Given the description of an element on the screen output the (x, y) to click on. 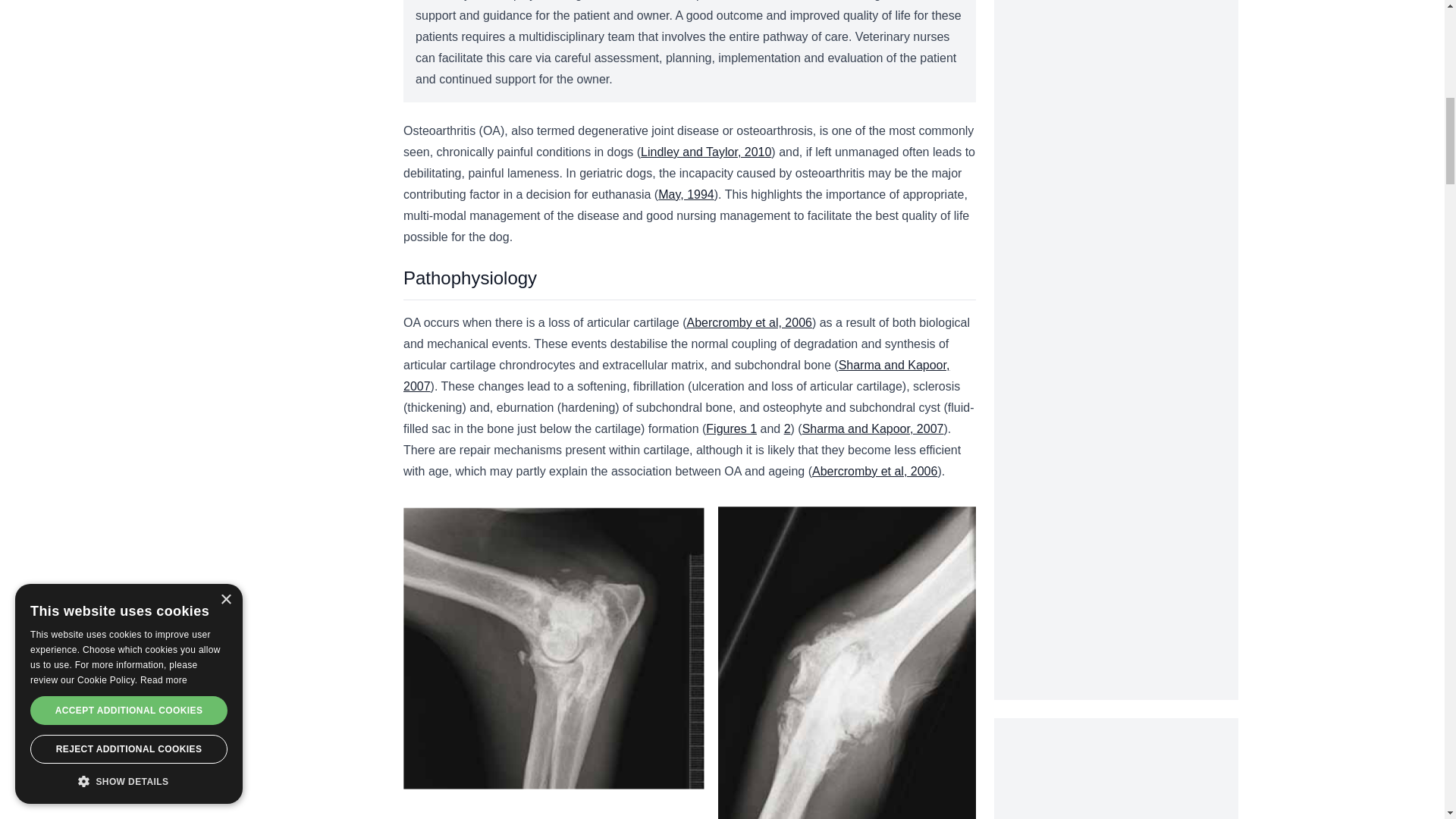
Abercromby et al, 2006 (749, 322)
Figures 1 (731, 428)
Sharma and Kapoor, 2007 (676, 375)
Sharma and Kapoor, 2007 (872, 428)
3rd party ad content (1116, 768)
May, 1994 (686, 194)
Abercromby et al, 2006 (874, 471)
Lindley and Taylor, 2010 (705, 151)
